Given the description of an element on the screen output the (x, y) to click on. 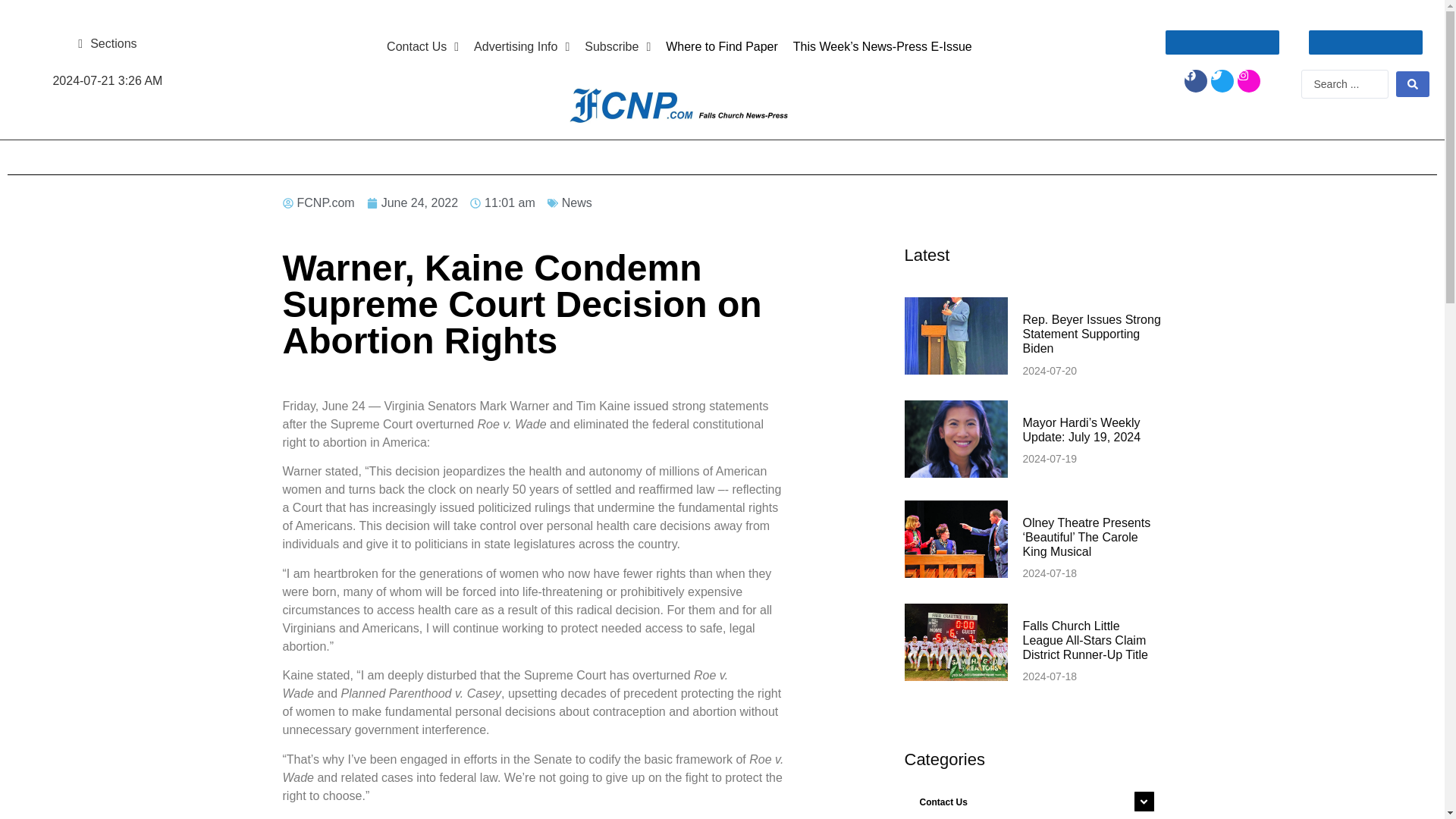
Rep. Beyer Issues Strong Statement Supporting Biden (1091, 333)
Advertising Info (520, 46)
June 24, 2022 (412, 203)
Where to Find Paper (722, 46)
Contact Us (421, 46)
FCNP.com (317, 203)
Contact Us (1032, 800)
News (577, 202)
Subscribe (617, 46)
